Given the description of an element on the screen output the (x, y) to click on. 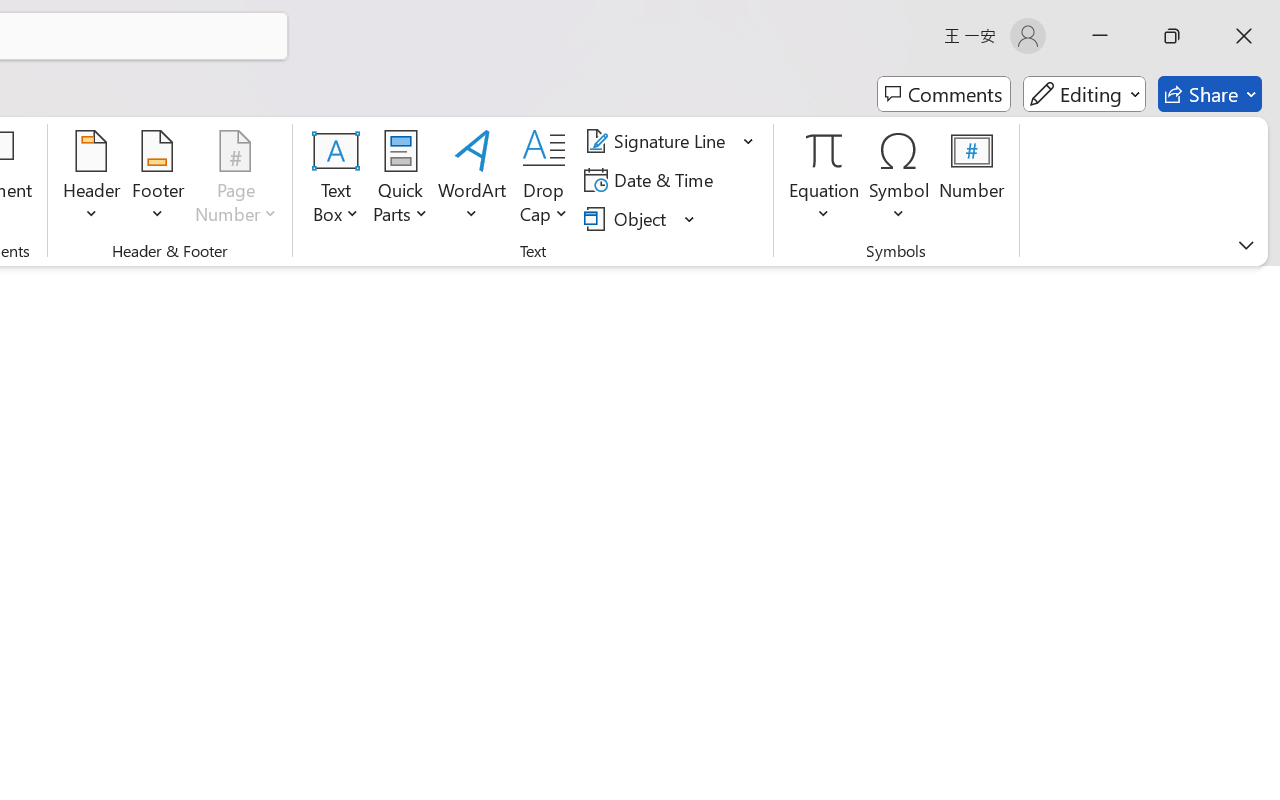
Equation (823, 179)
Equation (823, 150)
Text Box (335, 179)
Signature Line (669, 141)
Date & Time... (651, 179)
Object... (640, 218)
Header (92, 179)
Signature Line (658, 141)
Number... (971, 179)
